Given the description of an element on the screen output the (x, y) to click on. 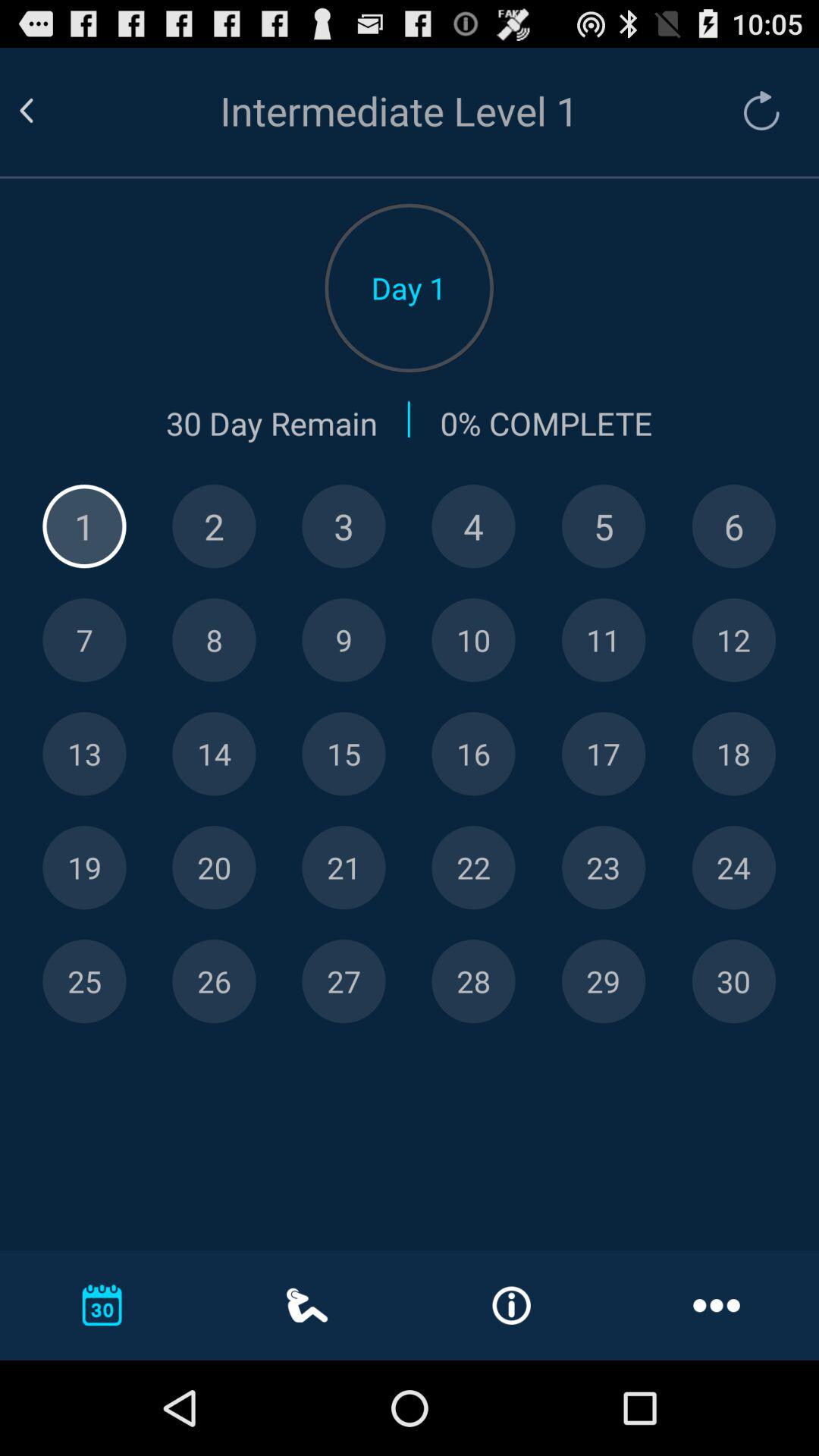
day 7 (84, 639)
